Given the description of an element on the screen output the (x, y) to click on. 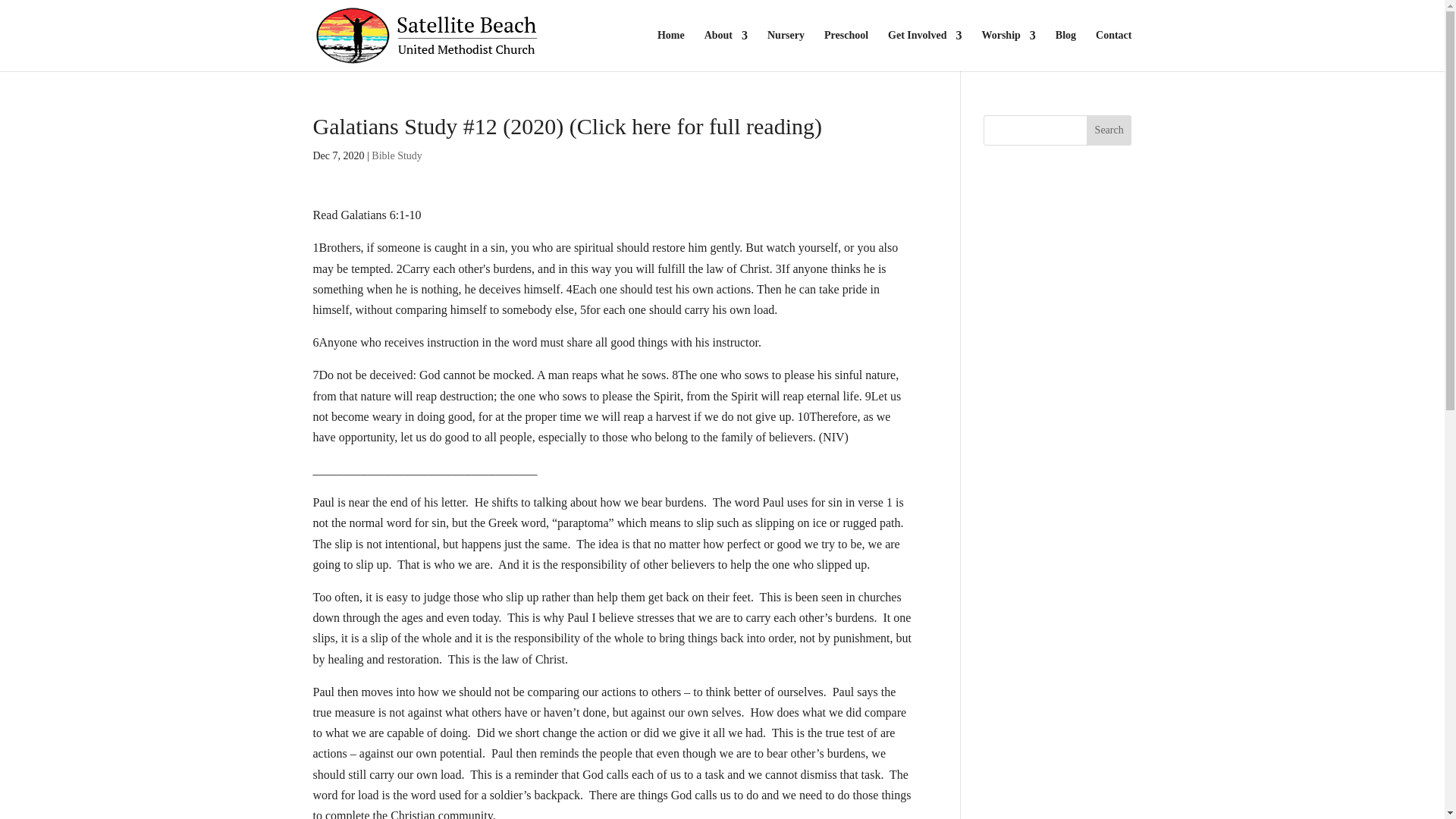
Worship (1008, 50)
Get Involved (924, 50)
About (726, 50)
Preschool (845, 50)
Nursery (786, 50)
Search (1109, 130)
